Given the description of an element on the screen output the (x, y) to click on. 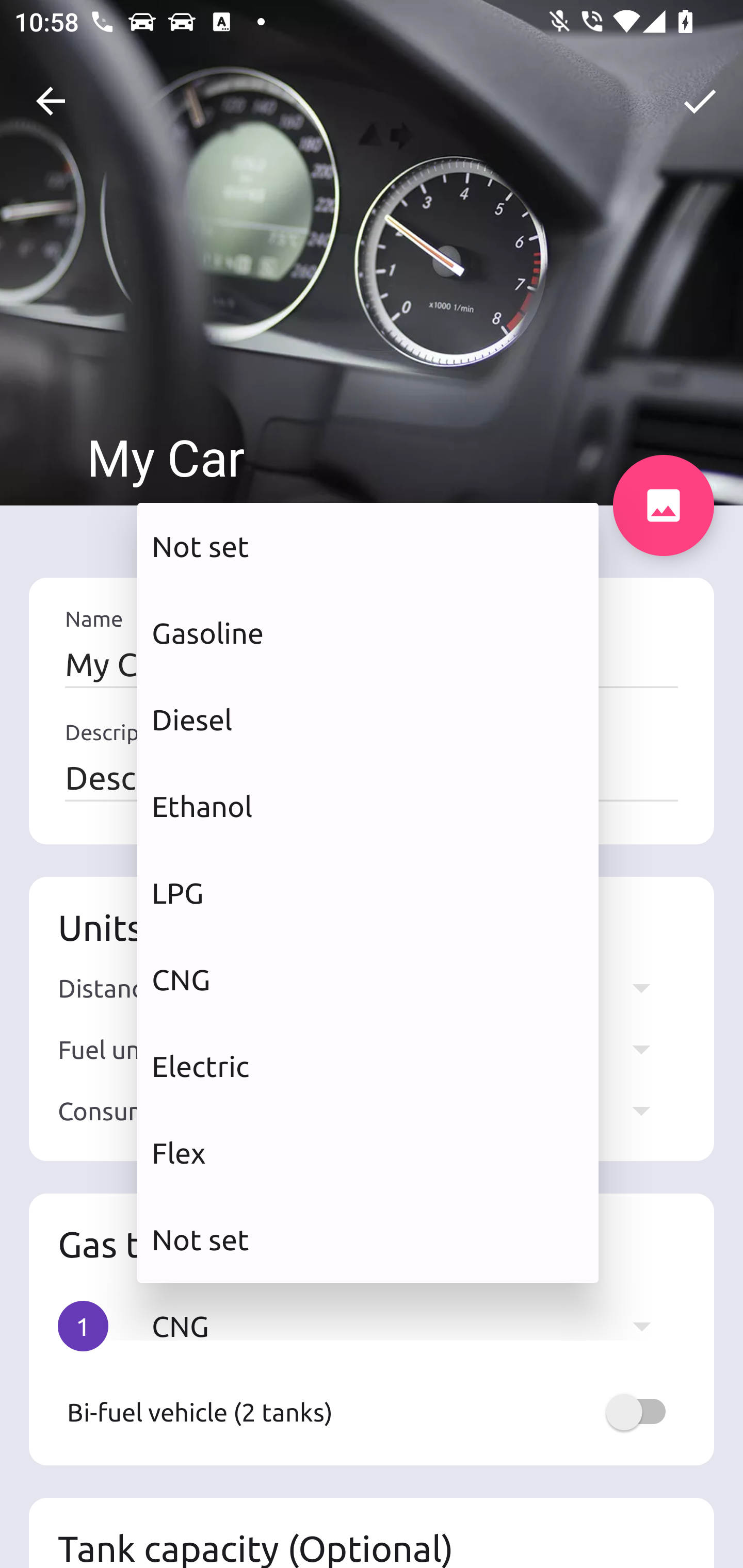
Not set (367, 546)
Gasoline (367, 632)
Diesel (367, 719)
Ethanol (367, 806)
LPG (367, 892)
CNG (367, 979)
Electric (367, 1066)
Flex (367, 1153)
Not set (367, 1239)
